Given the description of an element on the screen output the (x, y) to click on. 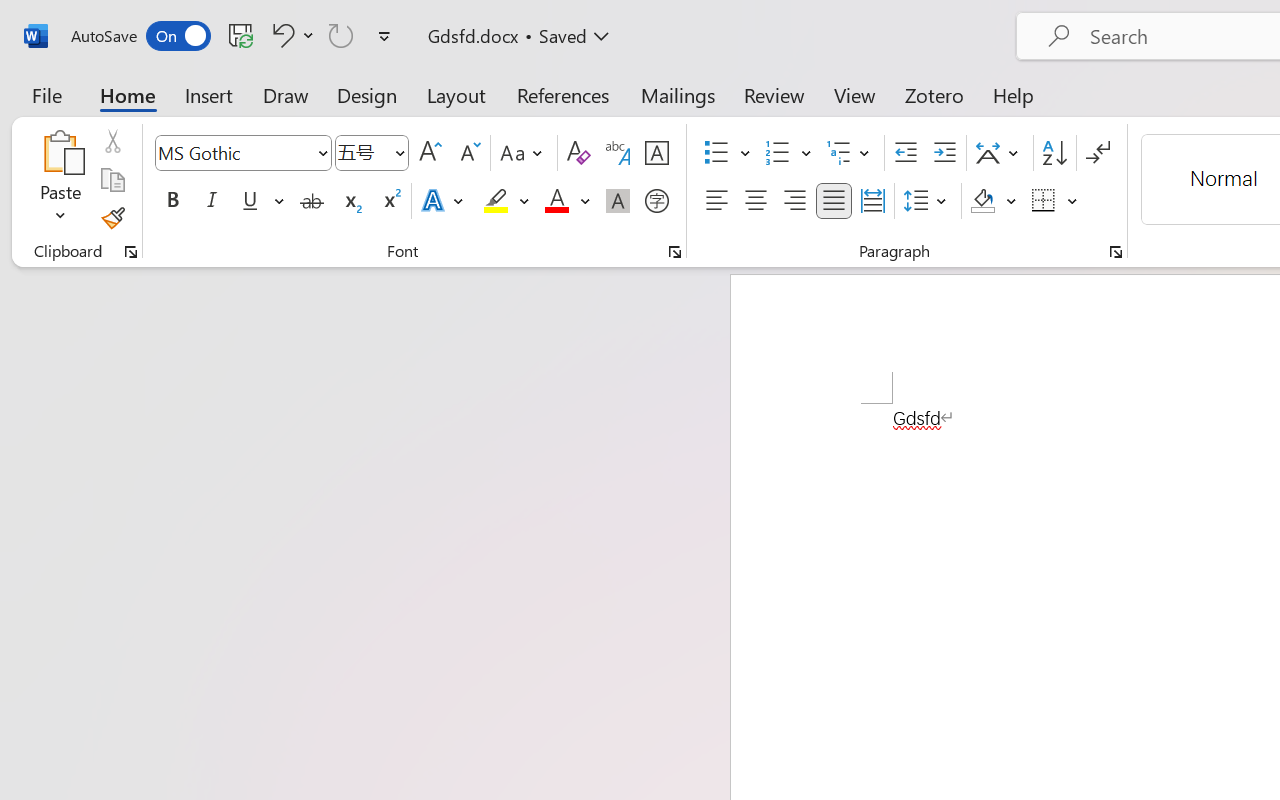
Multilevel List (850, 153)
Shading (993, 201)
Shading RGB(0, 0, 0) (982, 201)
Show/Hide Editing Marks (1098, 153)
